Given the description of an element on the screen output the (x, y) to click on. 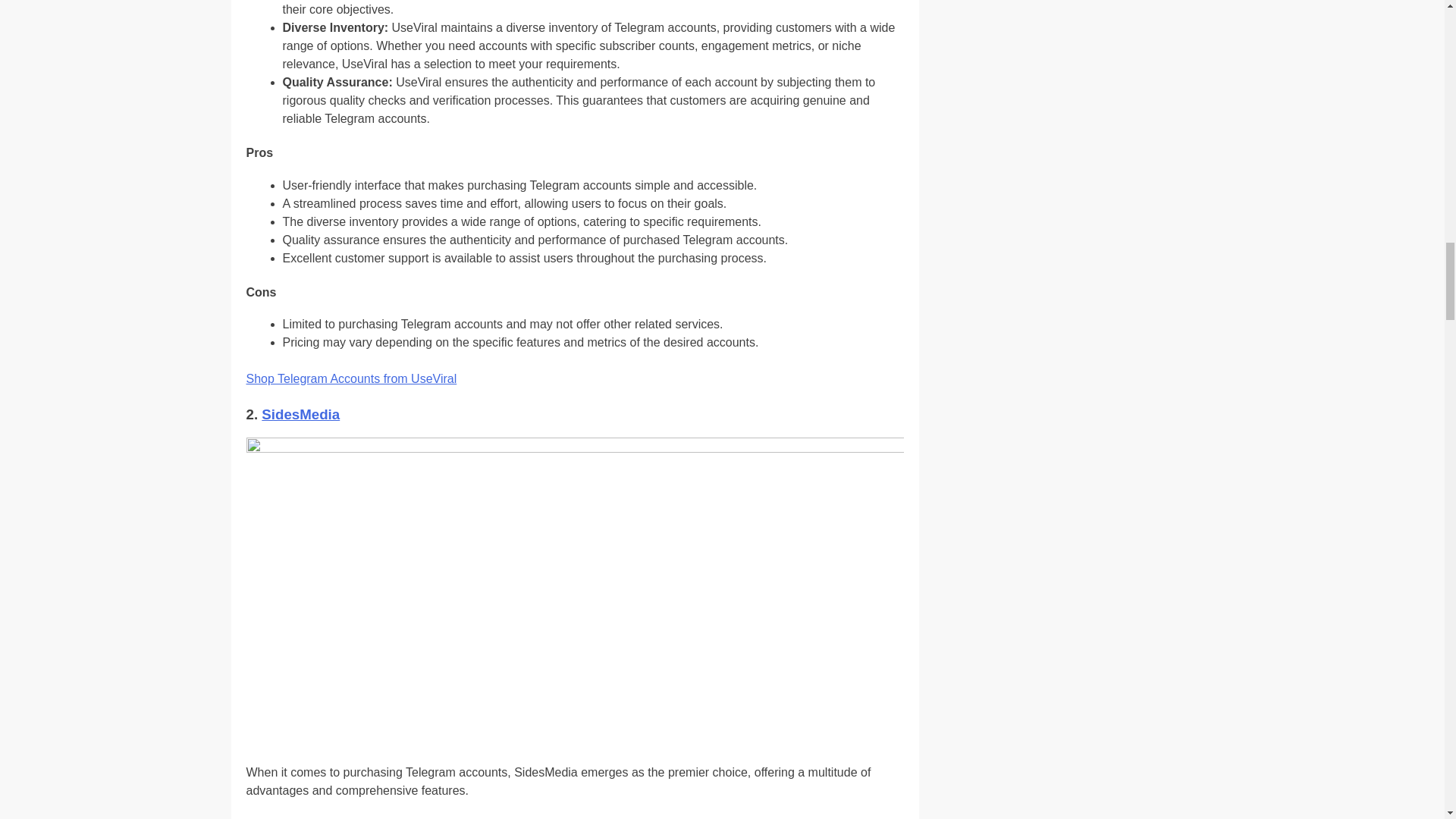
Shop Telegram Accounts from UseViral (351, 378)
